Given the description of an element on the screen output the (x, y) to click on. 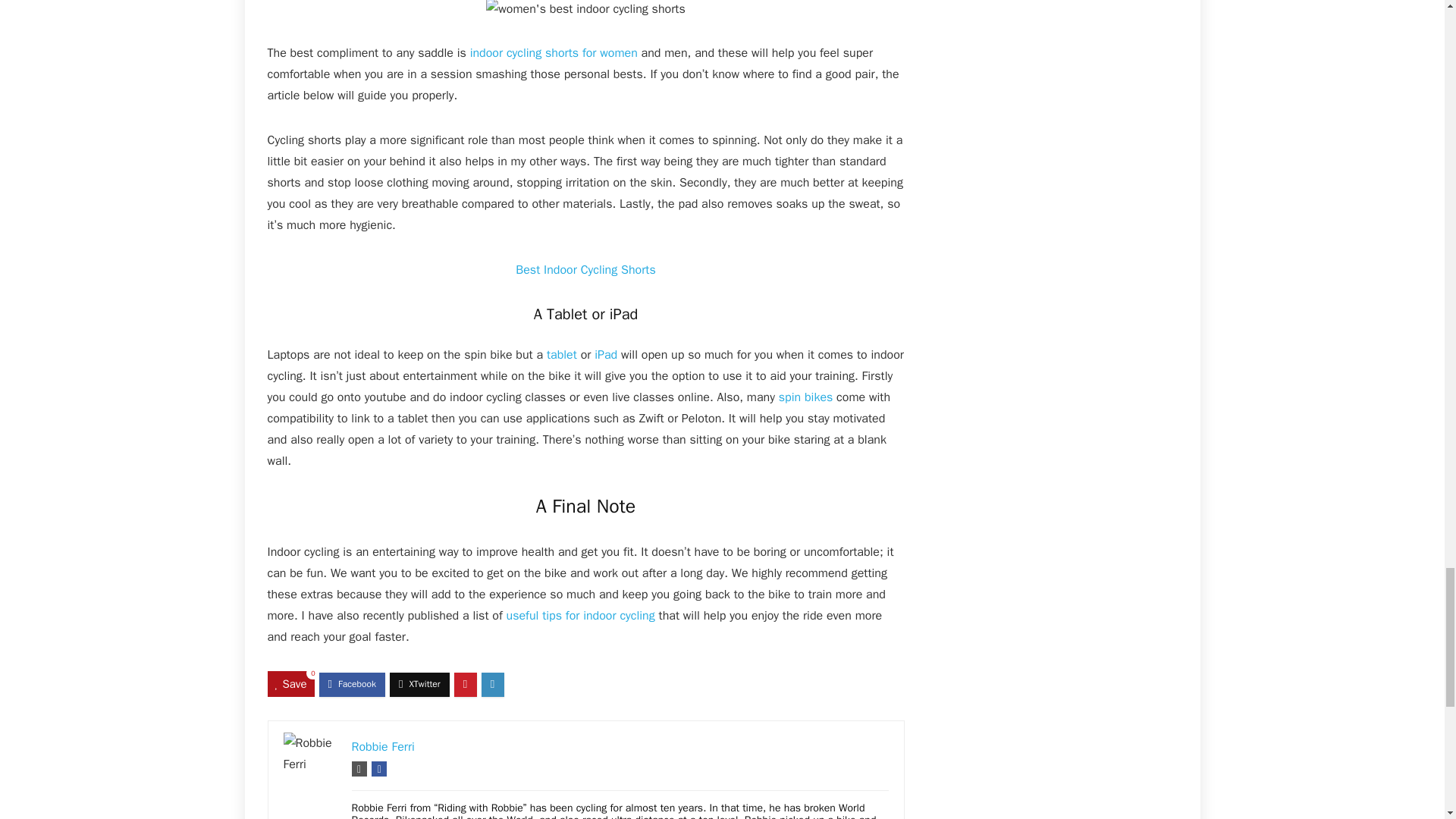
spin bikes (805, 396)
useful tips for indoor cycling (580, 615)
Best Indoor Cycling Shorts (585, 269)
tablet (561, 354)
indoor cycling shorts for women (553, 52)
Robbie Ferri (383, 746)
iPad (605, 354)
